Given the description of an element on the screen output the (x, y) to click on. 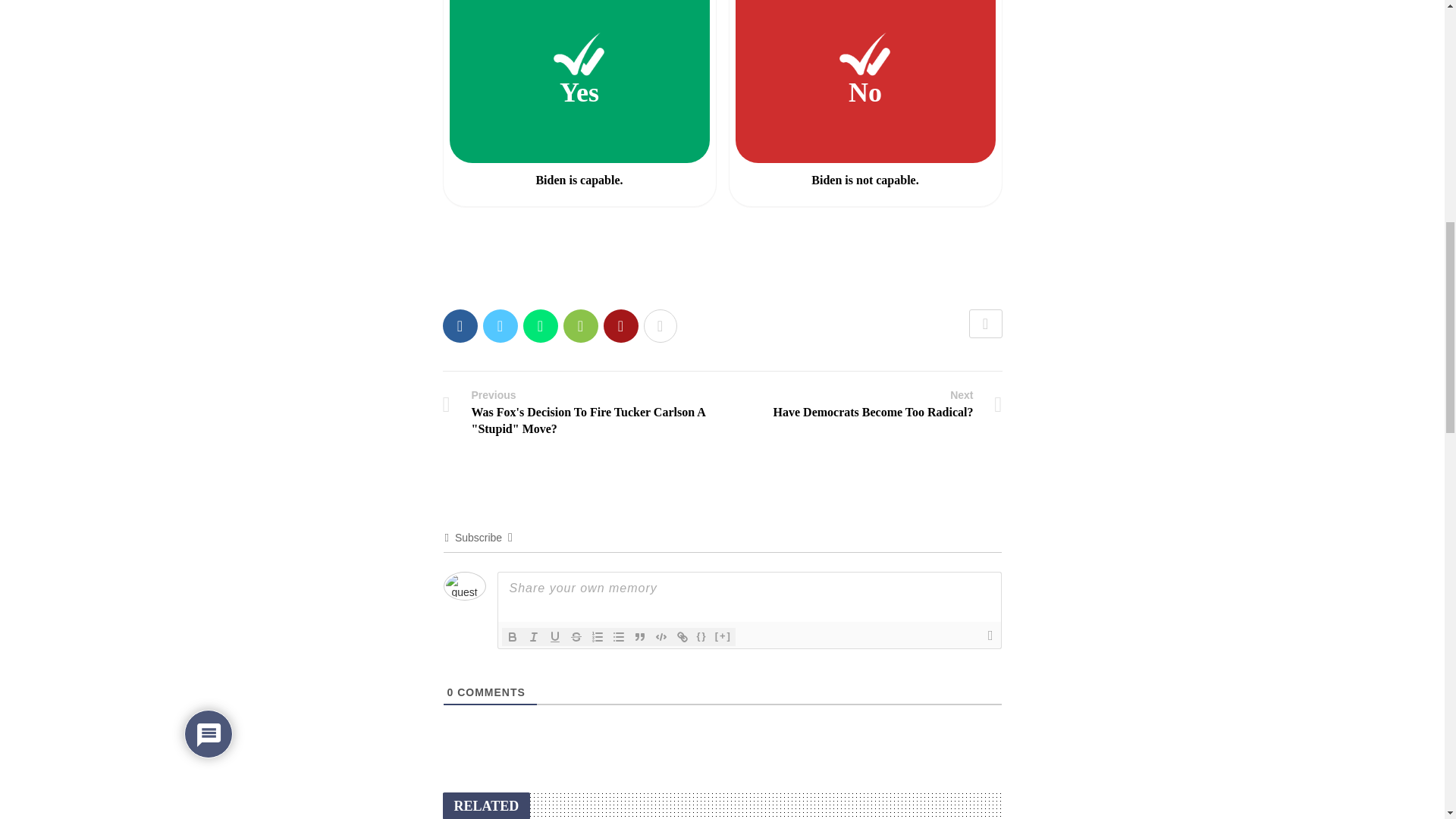
Italic (533, 637)
Add Bookmark (986, 323)
Bold (512, 637)
Blockquote (639, 637)
Spoiler (723, 637)
Link (682, 637)
Source Code (702, 637)
Code Block (867, 403)
Ordered List (660, 637)
